Given the description of an element on the screen output the (x, y) to click on. 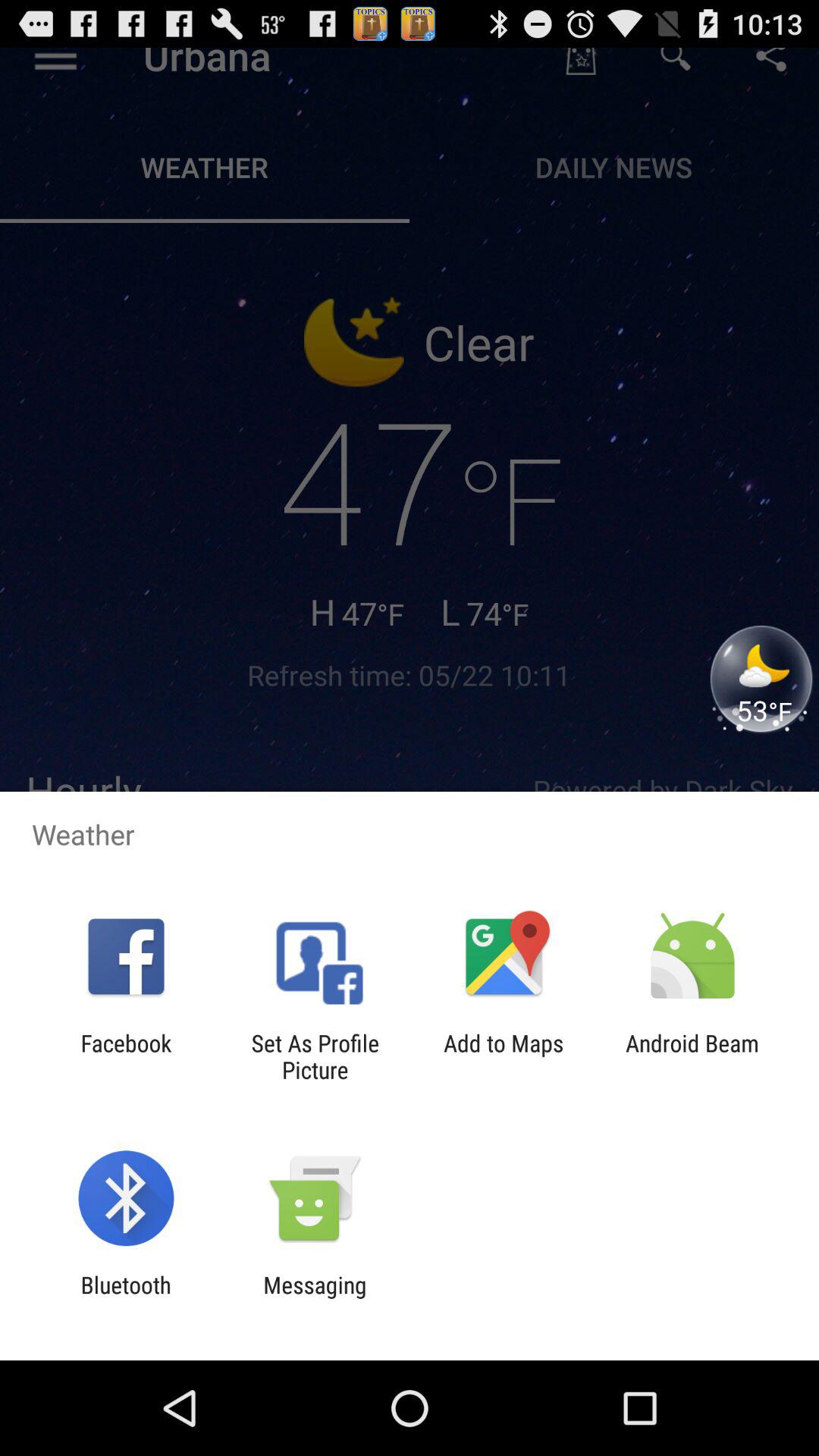
choose the app next to the bluetooth app (314, 1298)
